Given the description of an element on the screen output the (x, y) to click on. 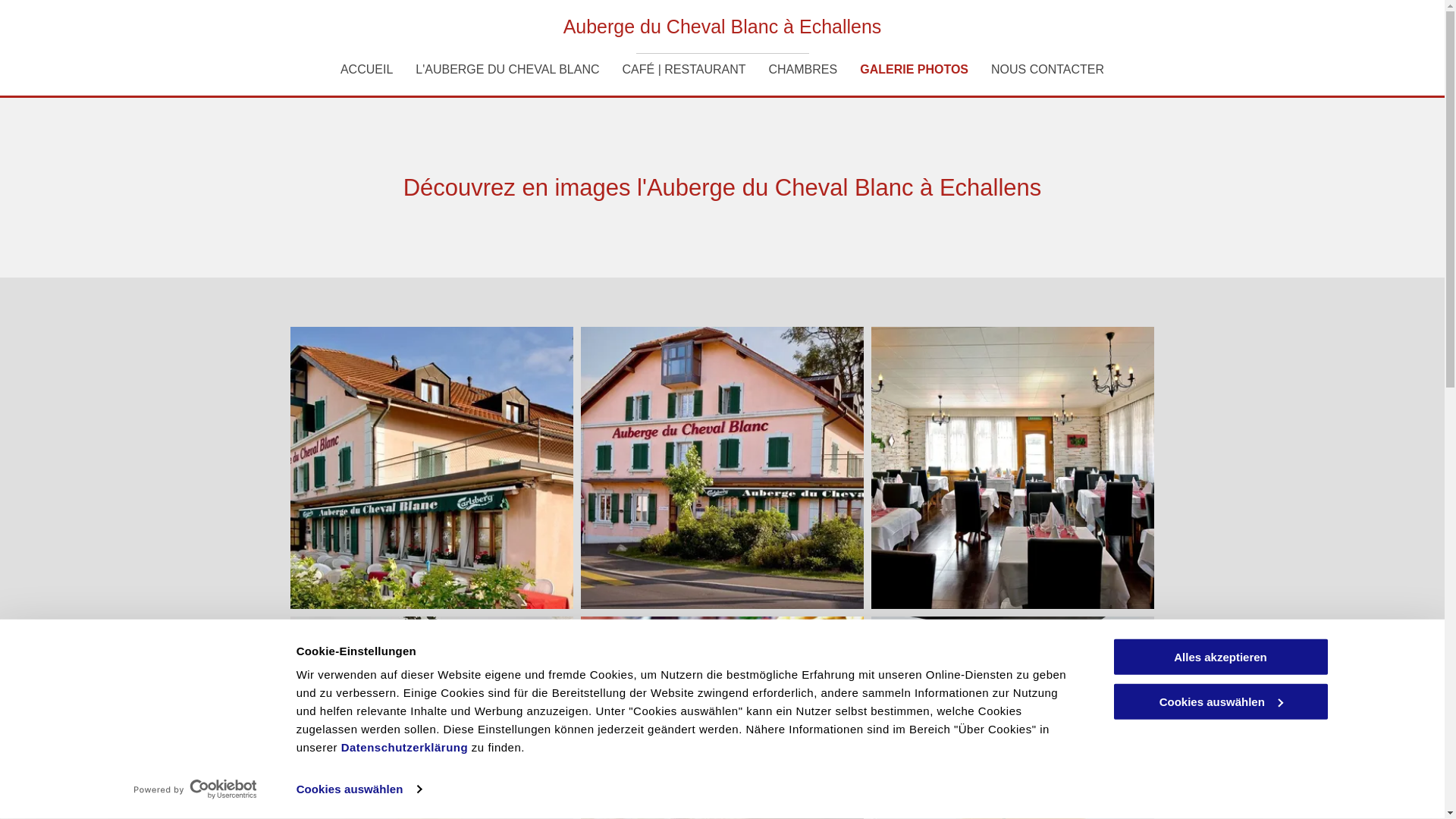
ACCUEIL Element type: text (366, 69)
NOUS CONTACTER Element type: text (1047, 69)
GALERIE PHOTOS Element type: text (913, 69)
CHAMBRES Element type: text (802, 69)
L'AUBERGE DU CHEVAL BLANC Element type: text (507, 69)
Alles akzeptieren Element type: text (1219, 656)
